Given the description of an element on the screen output the (x, y) to click on. 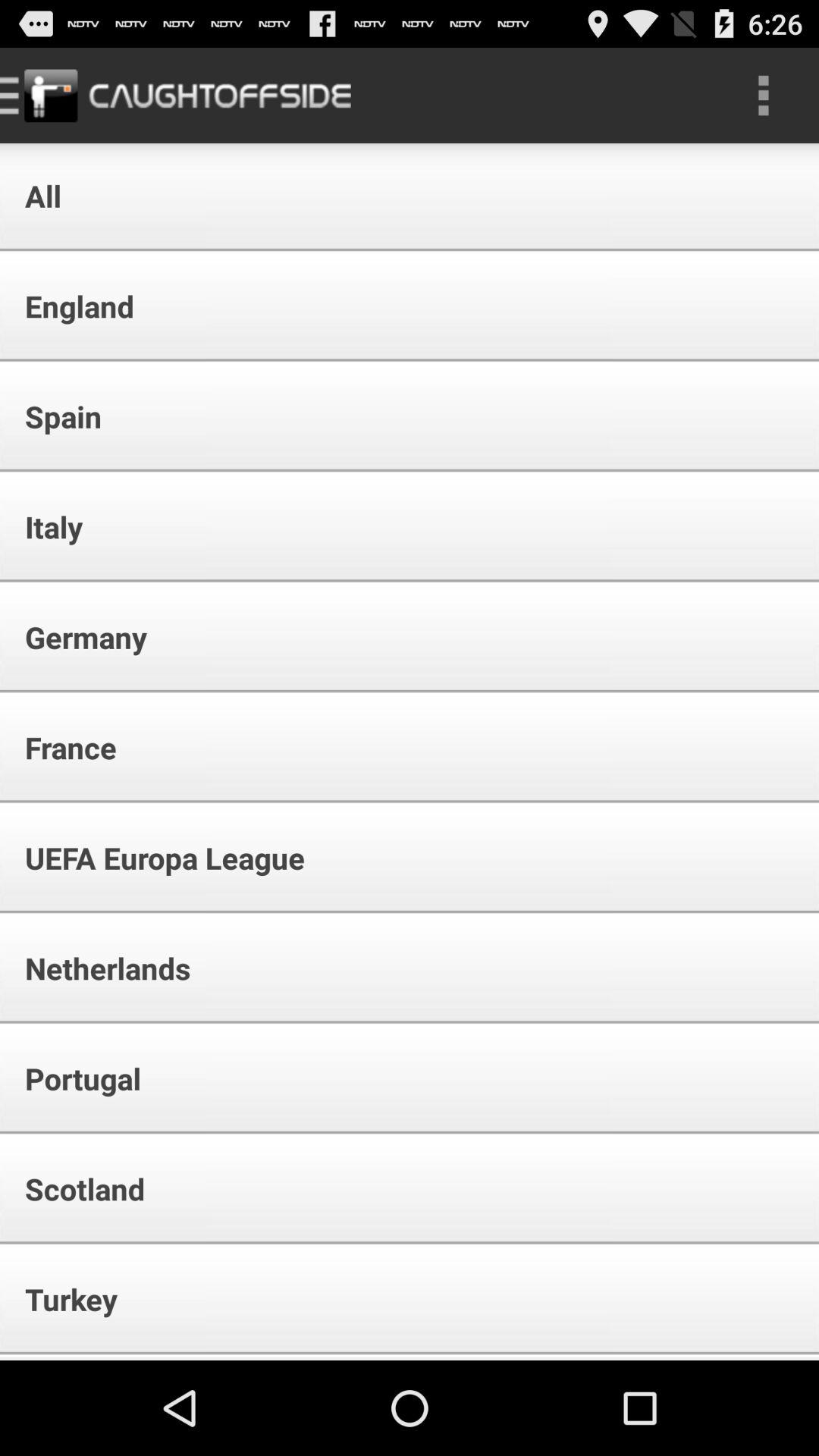
choose the germany item (76, 637)
